Given the description of an element on the screen output the (x, y) to click on. 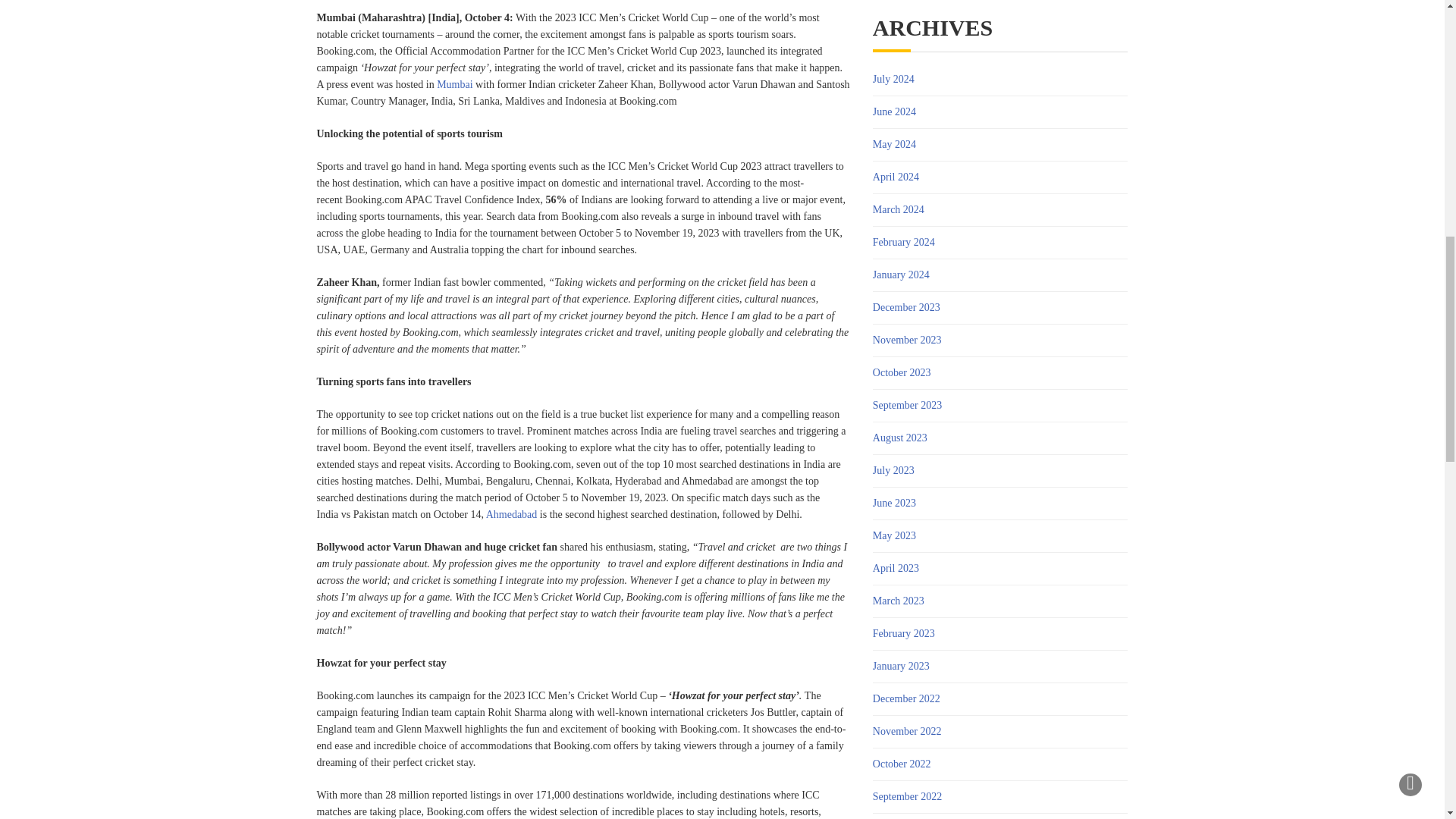
Ahmedabad (511, 514)
Mumba (453, 84)
i (471, 84)
